Given the description of an element on the screen output the (x, y) to click on. 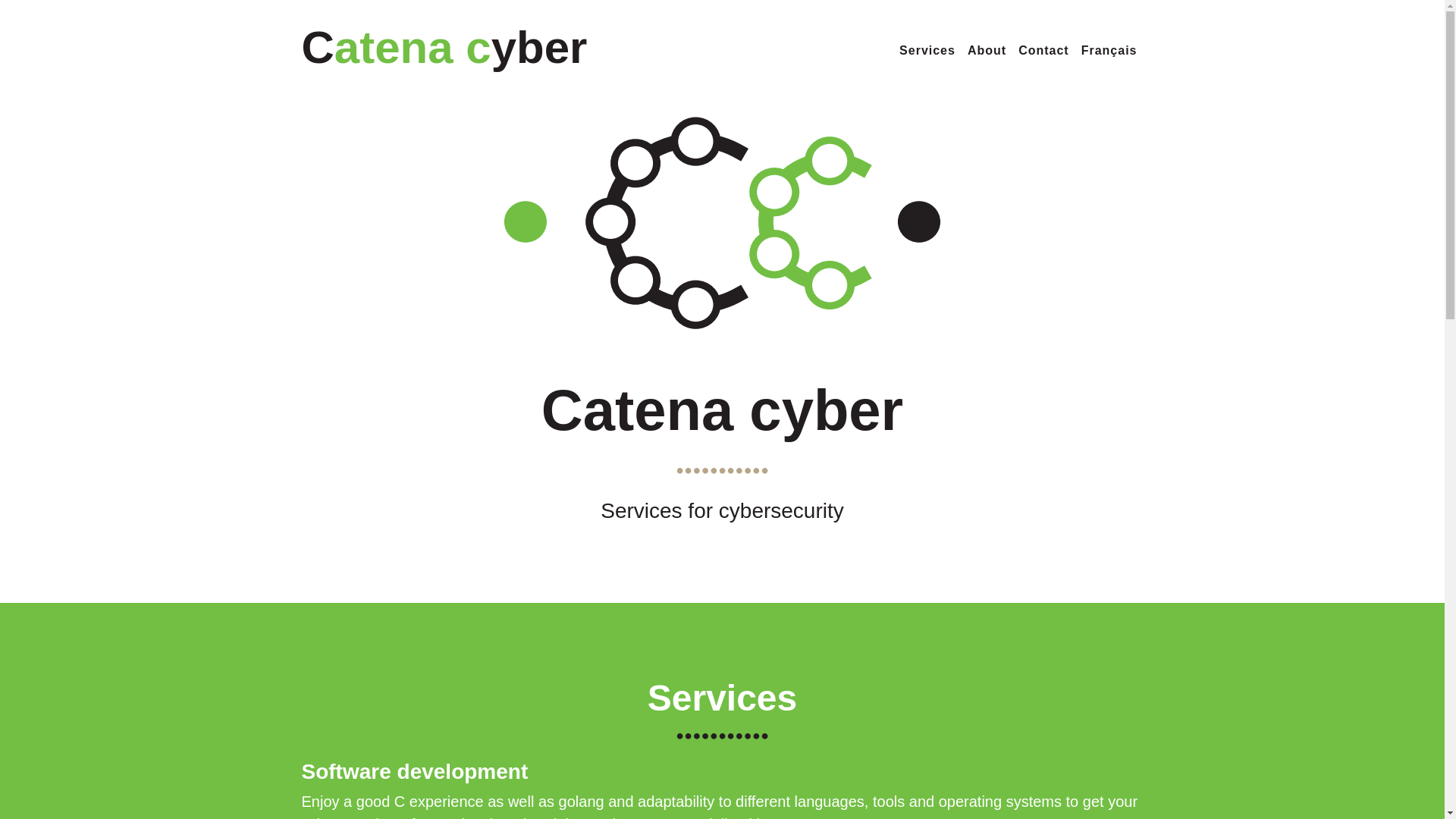
Contact (1043, 51)
About (985, 51)
About (985, 51)
Catena cyber (444, 47)
Catena cyber (444, 47)
Contact (1043, 51)
Services (926, 51)
Services (926, 51)
